Given the description of an element on the screen output the (x, y) to click on. 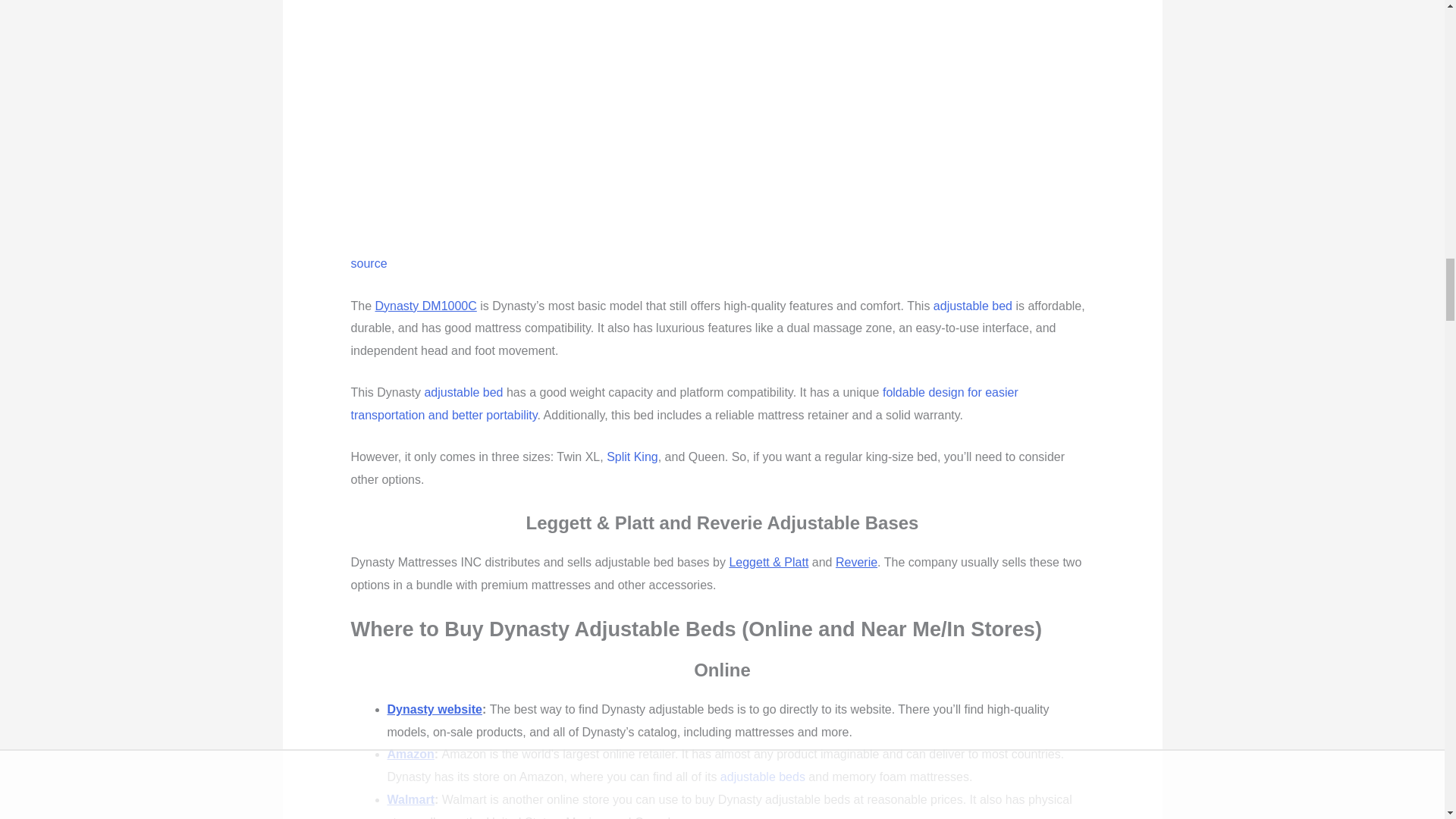
Dynasty DM1000C (547, 116)
